Given the description of an element on the screen output the (x, y) to click on. 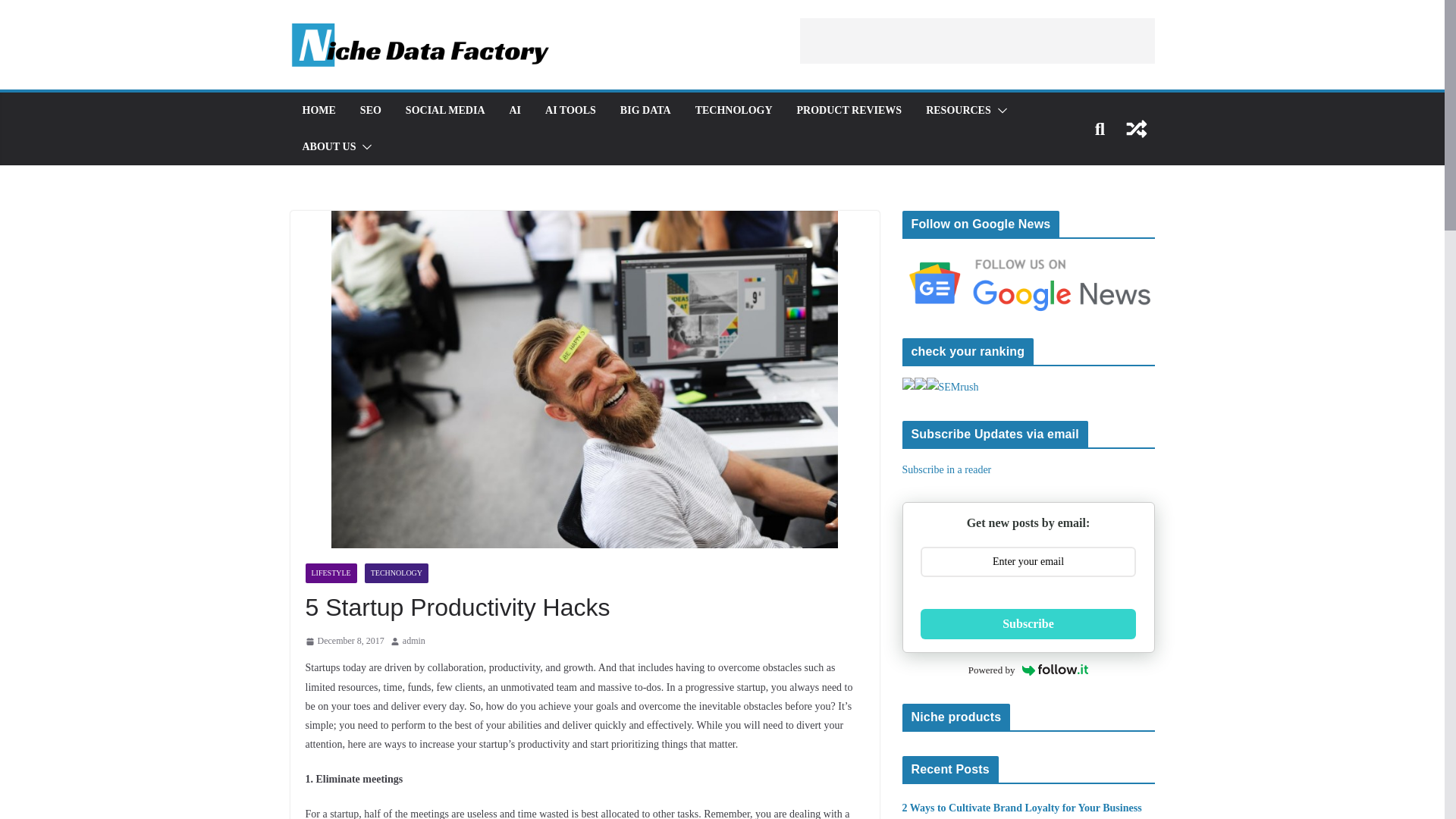
BIG DATA (645, 110)
PRODUCT REVIEWS (849, 110)
LIFESTYLE (330, 573)
RESOURCES (958, 110)
12:21 pm (344, 641)
AI TOOLS (569, 110)
TECHNOLOGY (396, 573)
HOME (317, 110)
admin (414, 641)
View a random post (1136, 128)
